Given the description of an element on the screen output the (x, y) to click on. 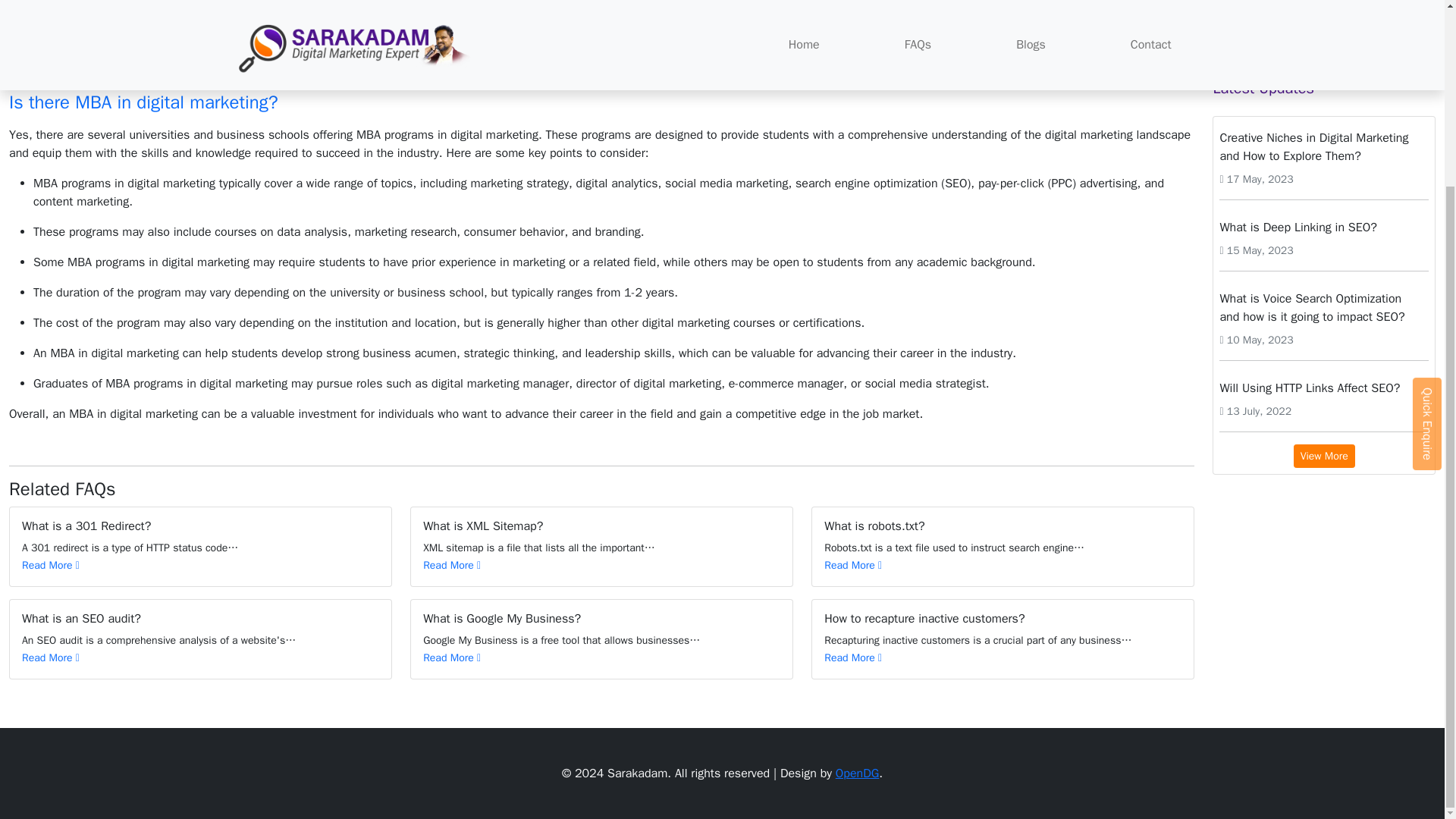
View More (1324, 455)
What is Deep Linking in SEO? (1324, 227)
OpenDG (857, 773)
Read More (50, 657)
Read More (853, 564)
Will Using HTTP Links Affect SEO? (1324, 388)
Read More (50, 564)
FAQ (291, 21)
Read More (853, 657)
Read More (451, 564)
Home (246, 21)
Read More (451, 657)
